Given the description of an element on the screen output the (x, y) to click on. 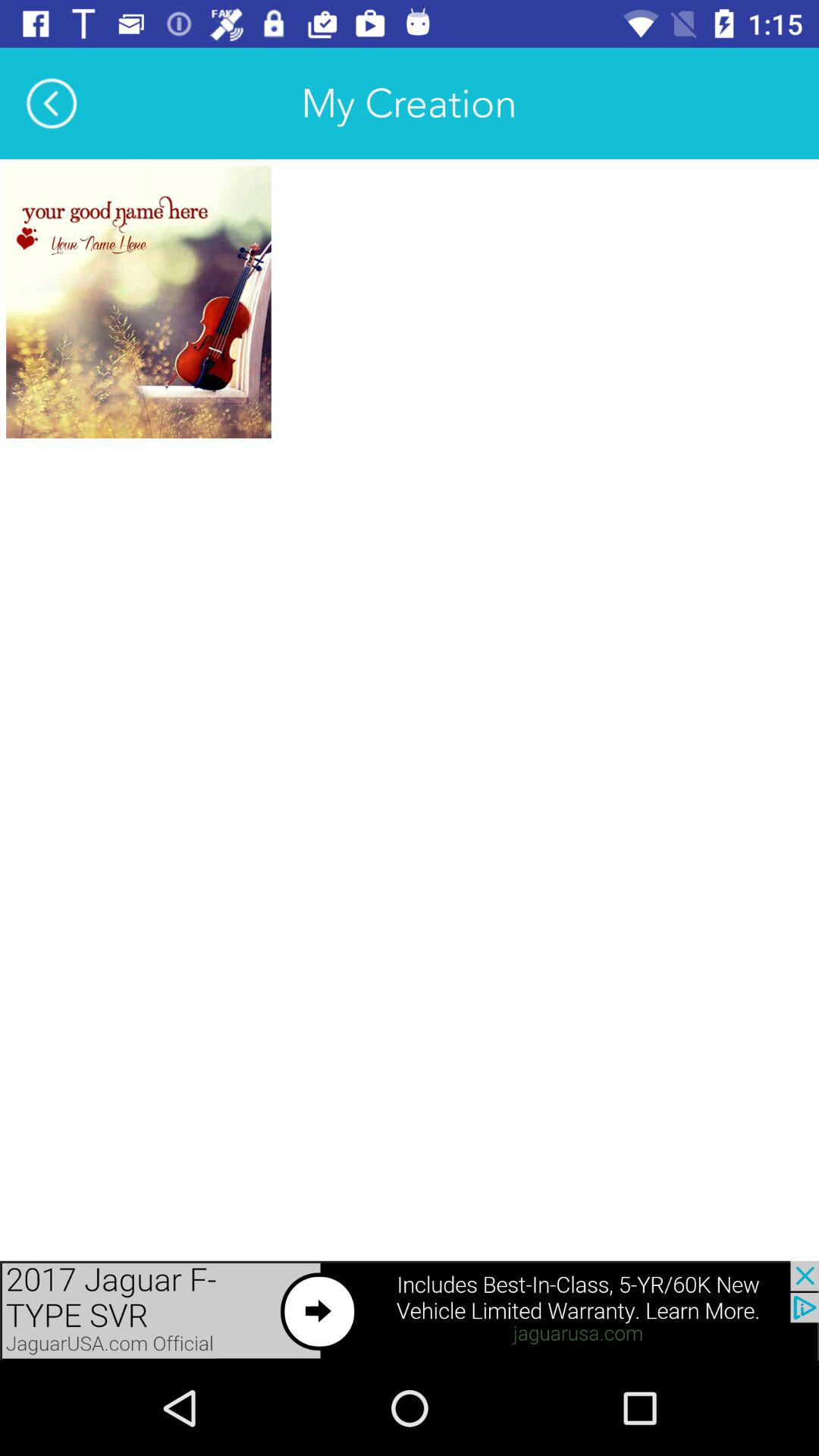
view the adversitement (138, 301)
